Given the description of an element on the screen output the (x, y) to click on. 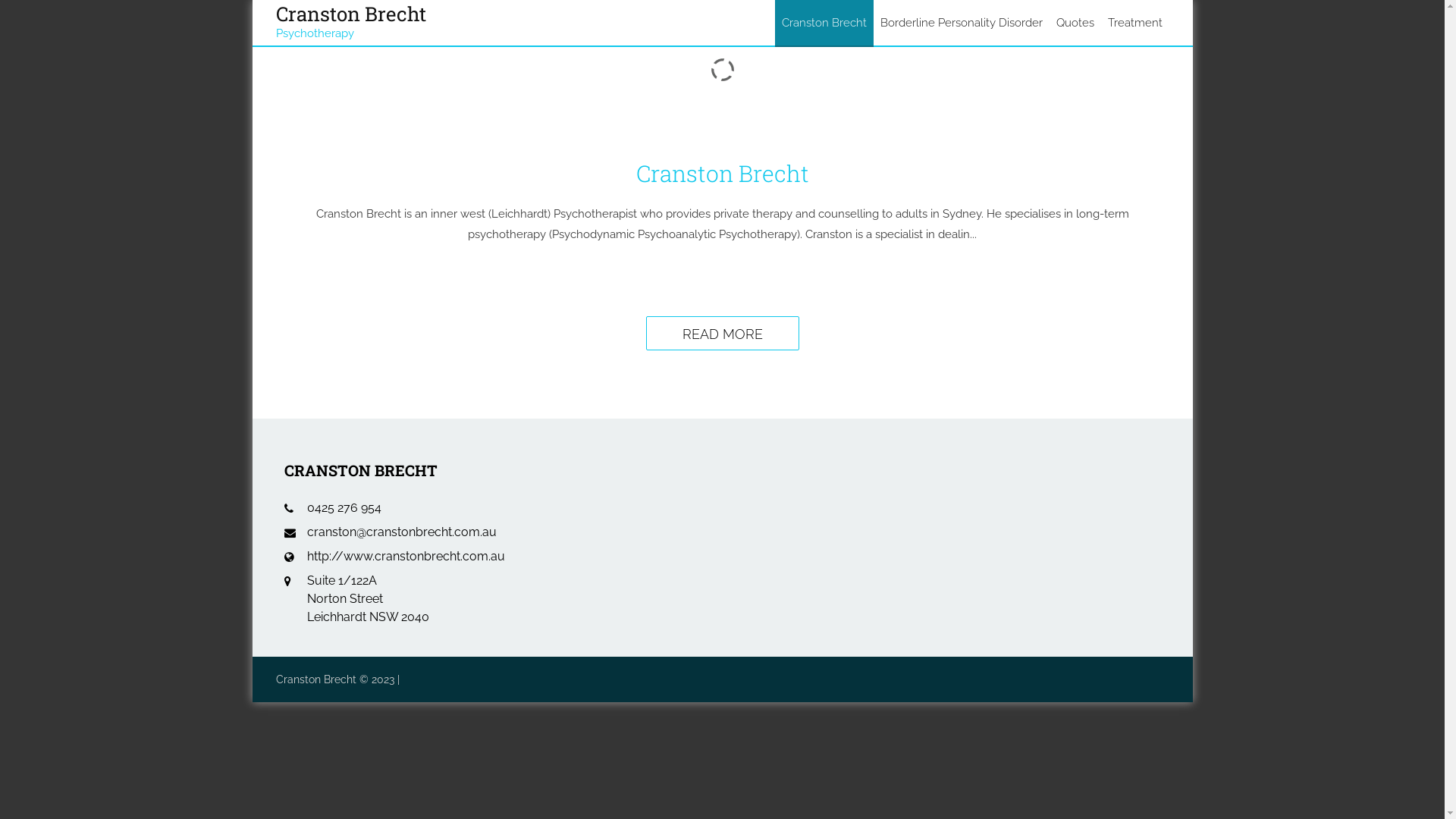
Cranston Brecht Element type: text (824, 22)
Quotes Element type: text (1075, 22)
Treatment Element type: text (1135, 22)
Borderline Personality Disorder Element type: text (961, 22)
READ MORE Element type: text (722, 333)
Cranston Brecht
Psychotherapy Element type: text (351, 17)
